Given the description of an element on the screen output the (x, y) to click on. 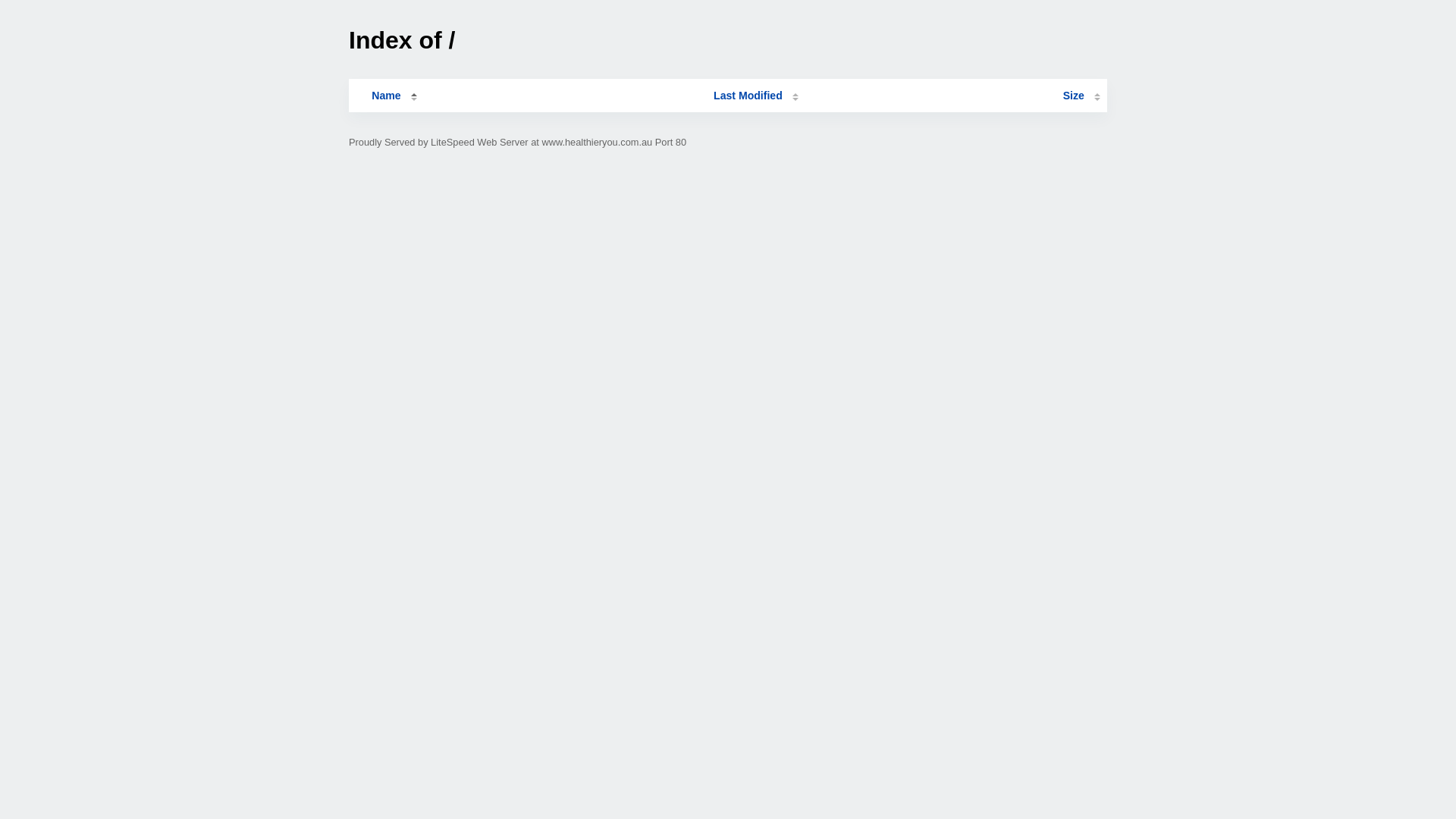
Name Element type: text (385, 95)
Last Modified Element type: text (755, 95)
Size Element type: text (1081, 95)
